Given the description of an element on the screen output the (x, y) to click on. 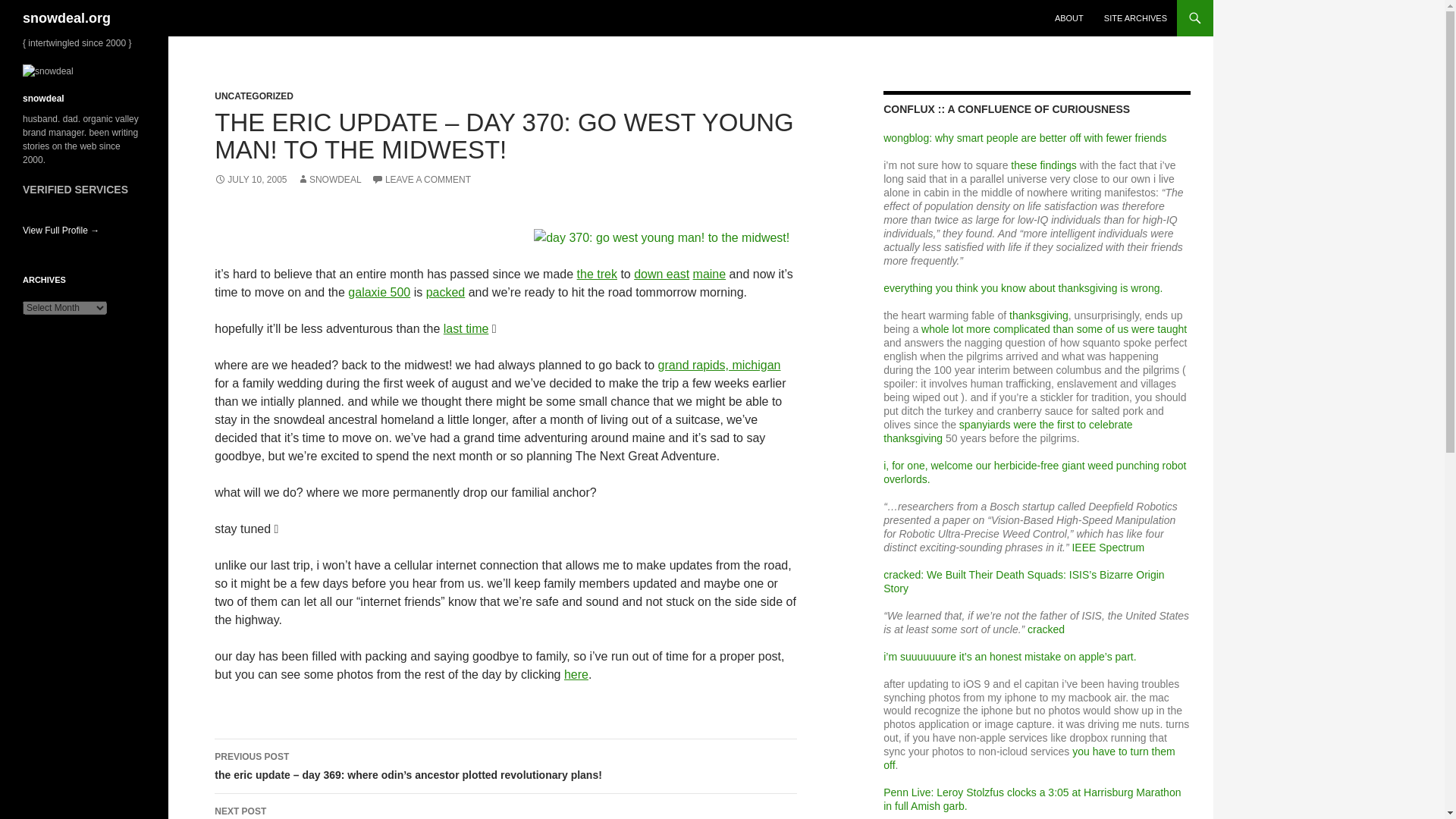
thanksgiving (1038, 315)
packed (445, 291)
UNCATEGORIZED (254, 95)
grand rapids, michigan (719, 364)
wongblog: why smart people are better off with fewer friends (1024, 137)
everything you think you know about thanksgiving is wrong. (1022, 287)
spanyiards were the first to celebrate thanksgiving (1007, 431)
the trek (596, 273)
whole lot more complicated than some of us were taught (1053, 328)
JULY 10, 2005 (250, 179)
day 370: go west young man! to the midwest! (661, 238)
these findings (1042, 164)
down east (660, 273)
ABOUT (1069, 18)
